Given the description of an element on the screen output the (x, y) to click on. 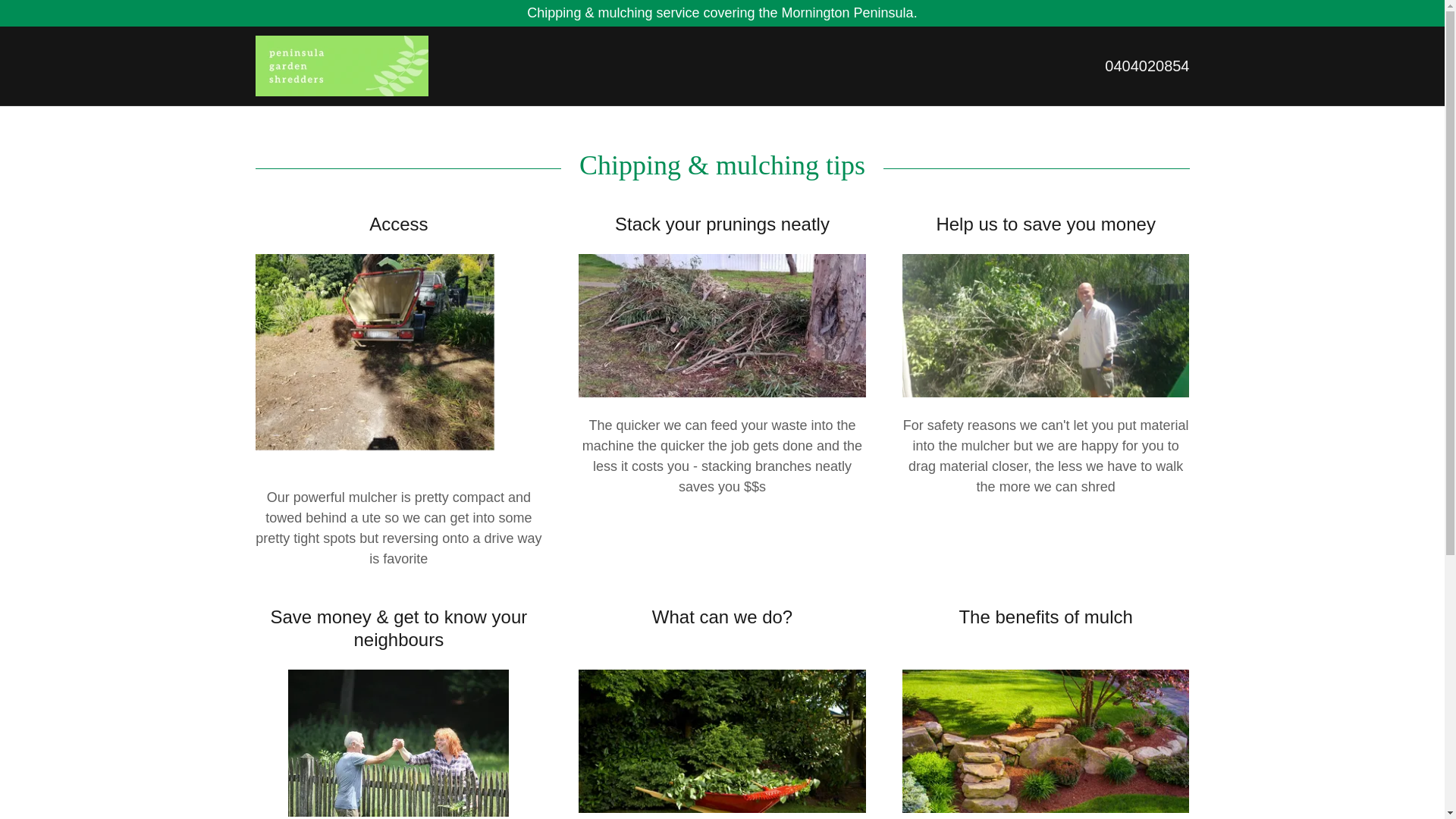
0404020854 (1147, 65)
Peninsula Garden Shredders (341, 64)
